Given the description of an element on the screen output the (x, y) to click on. 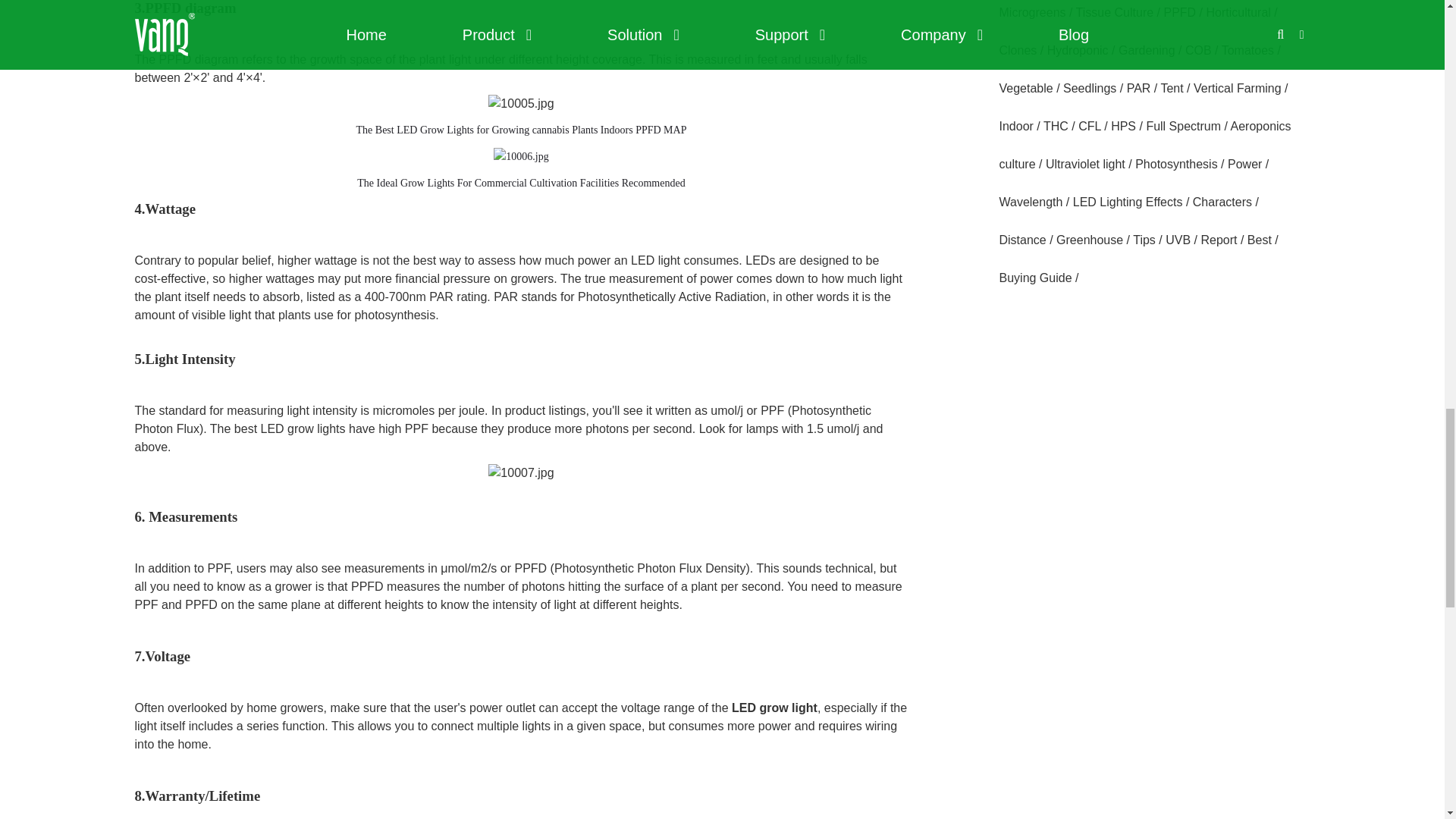
1685438084123088128.jpg (520, 157)
1685438116920077977.jpg (520, 473)
1685438018333000331.jpg (520, 104)
